Given the description of an element on the screen output the (x, y) to click on. 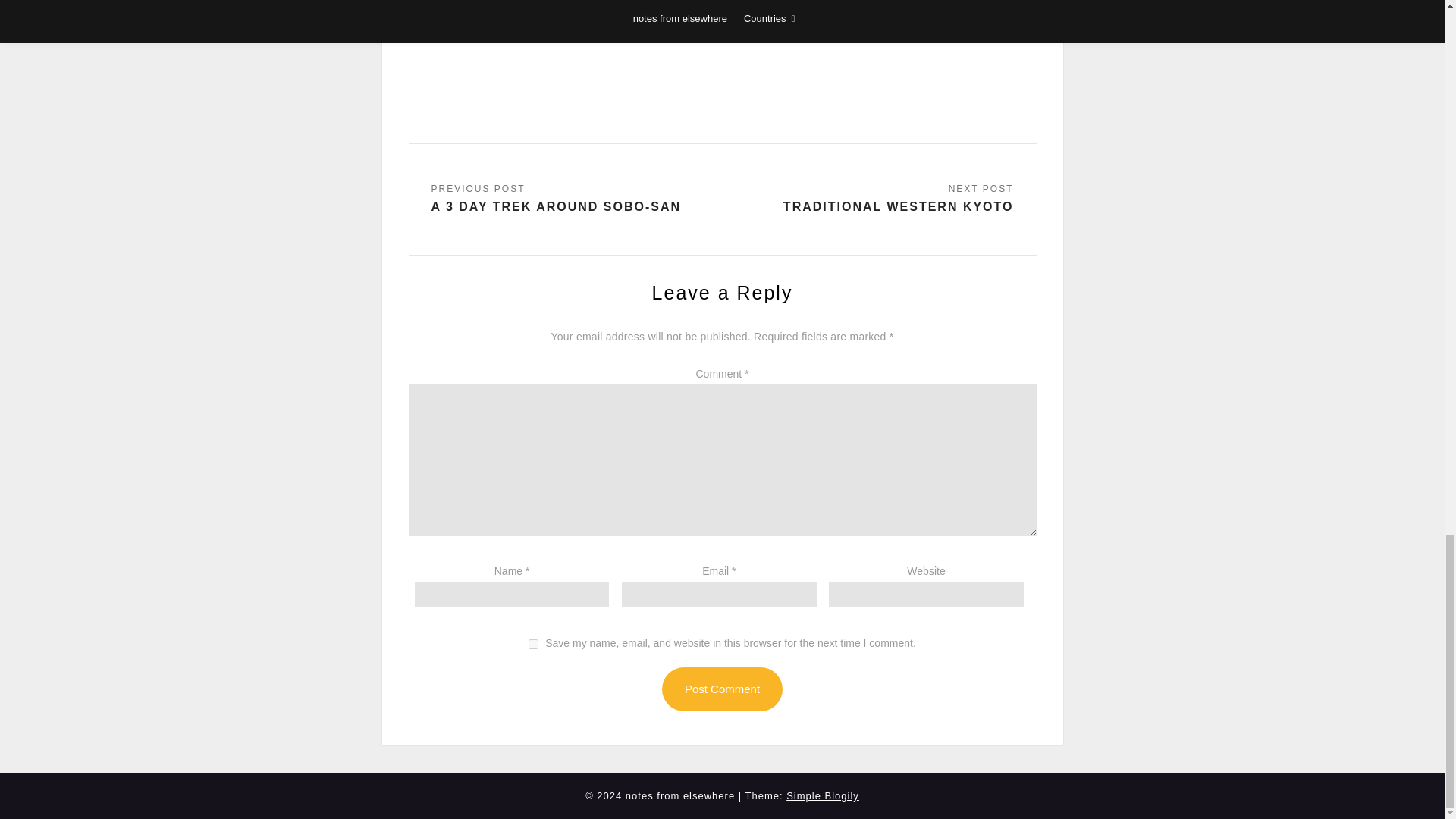
yes (533, 644)
Post Comment (722, 689)
Simple Blogily (822, 795)
TRADITIONAL WESTERN KYOTO (898, 199)
A 3 DAY TREK AROUND SOBO-SAN (556, 199)
Post Comment (722, 689)
